Given the description of an element on the screen output the (x, y) to click on. 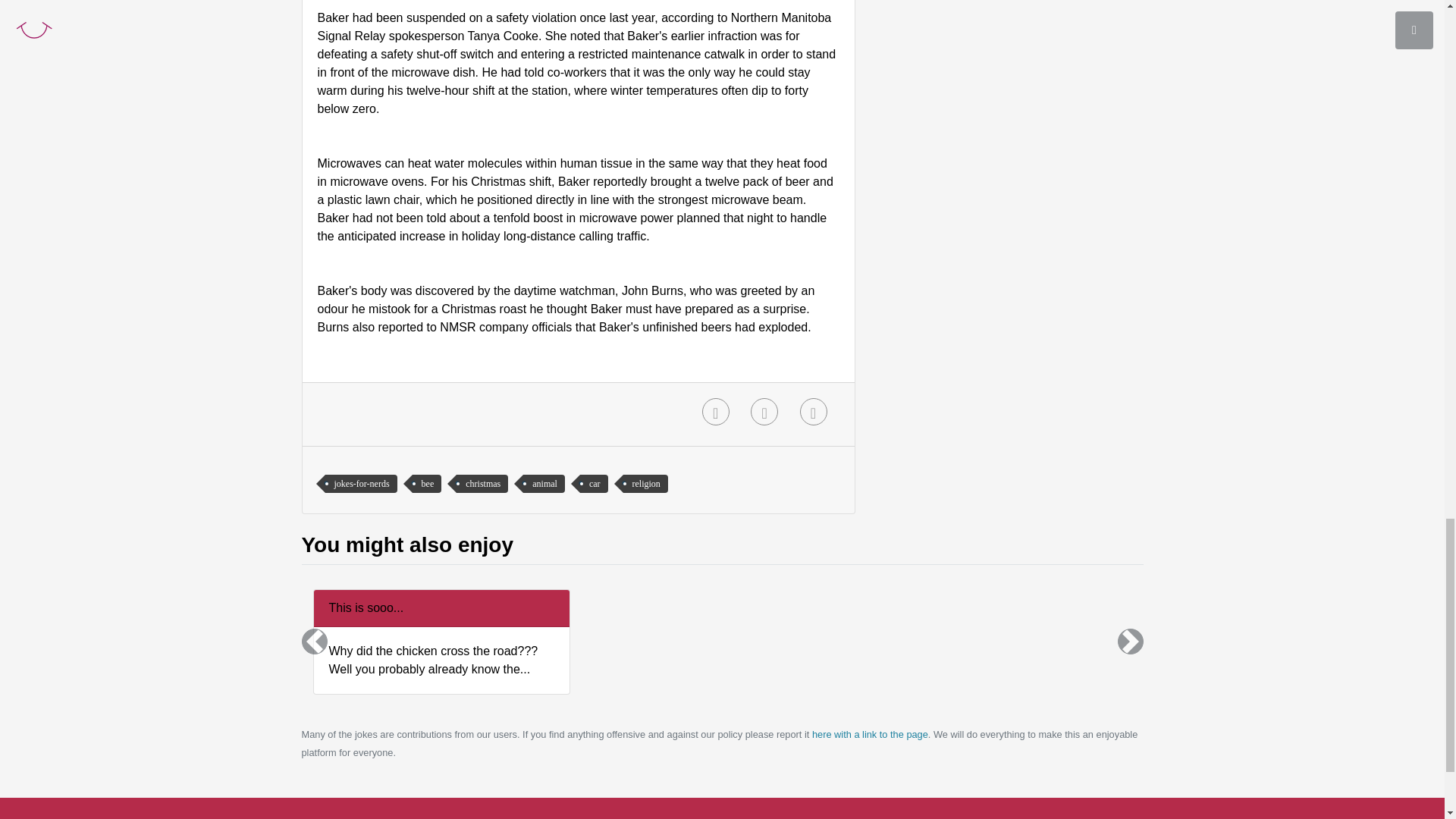
car (593, 484)
jokes-for-nerds (360, 484)
bee (427, 484)
animal (543, 484)
Login to Bookmark this joke (715, 411)
christmas (482, 484)
religion (645, 484)
